Given the description of an element on the screen output the (x, y) to click on. 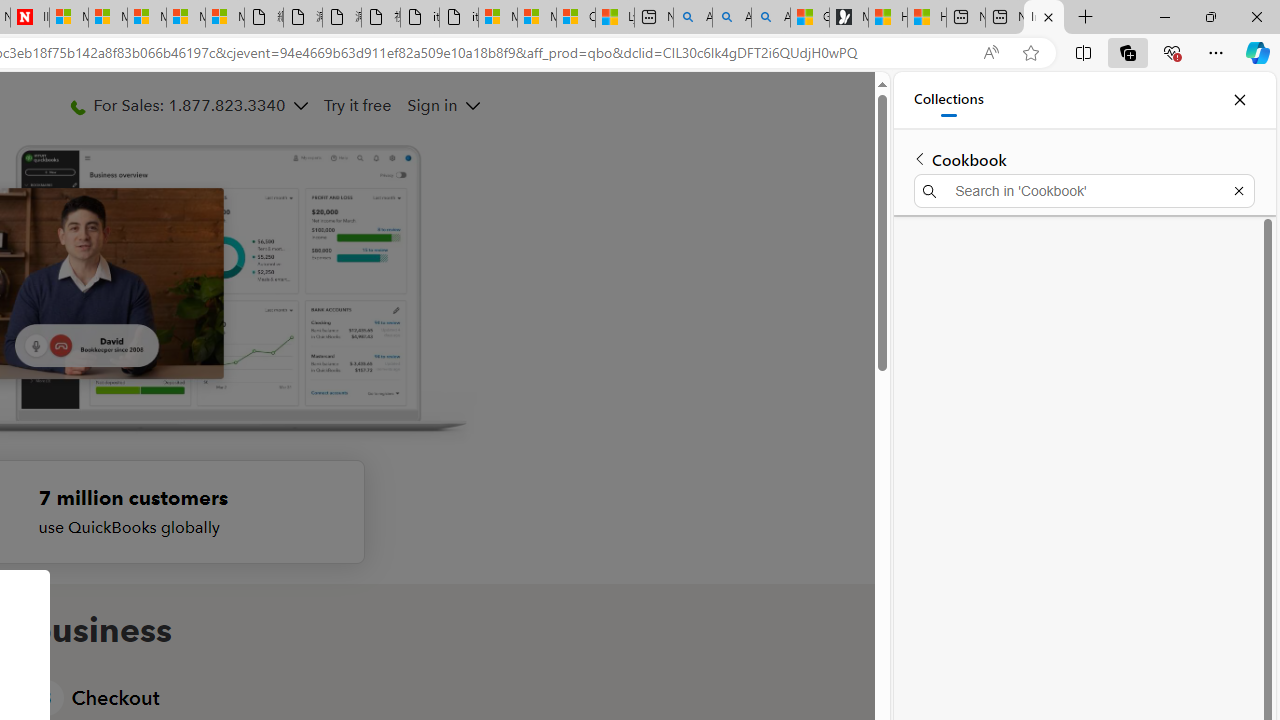
PhoneIcon (77, 107)
Try it free (356, 105)
Alabama high school quarterback dies - Search (692, 17)
itconcepthk.com/projector_solutions.mp4 (458, 17)
Exit search (1238, 190)
